Given the description of an element on the screen output the (x, y) to click on. 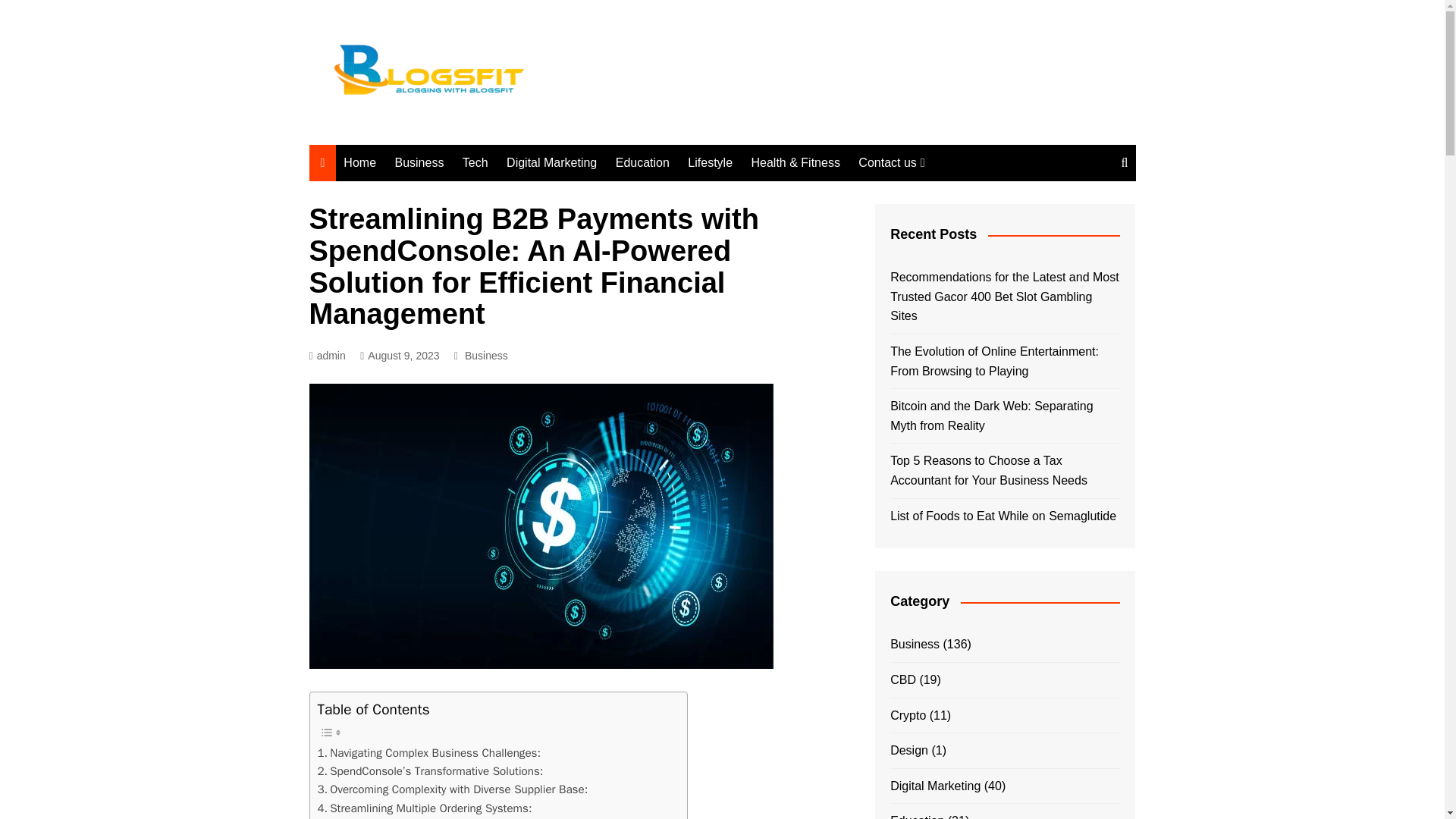
Business (419, 162)
Contact us (890, 162)
Overcoming Complexity with Diverse Supplier Base: (452, 789)
Home (360, 162)
Lifestyle (709, 162)
Digital Marketing (551, 162)
admin (327, 355)
Overcoming Complexity with Diverse Supplier Base: (452, 789)
Business (486, 355)
